Given the description of an element on the screen output the (x, y) to click on. 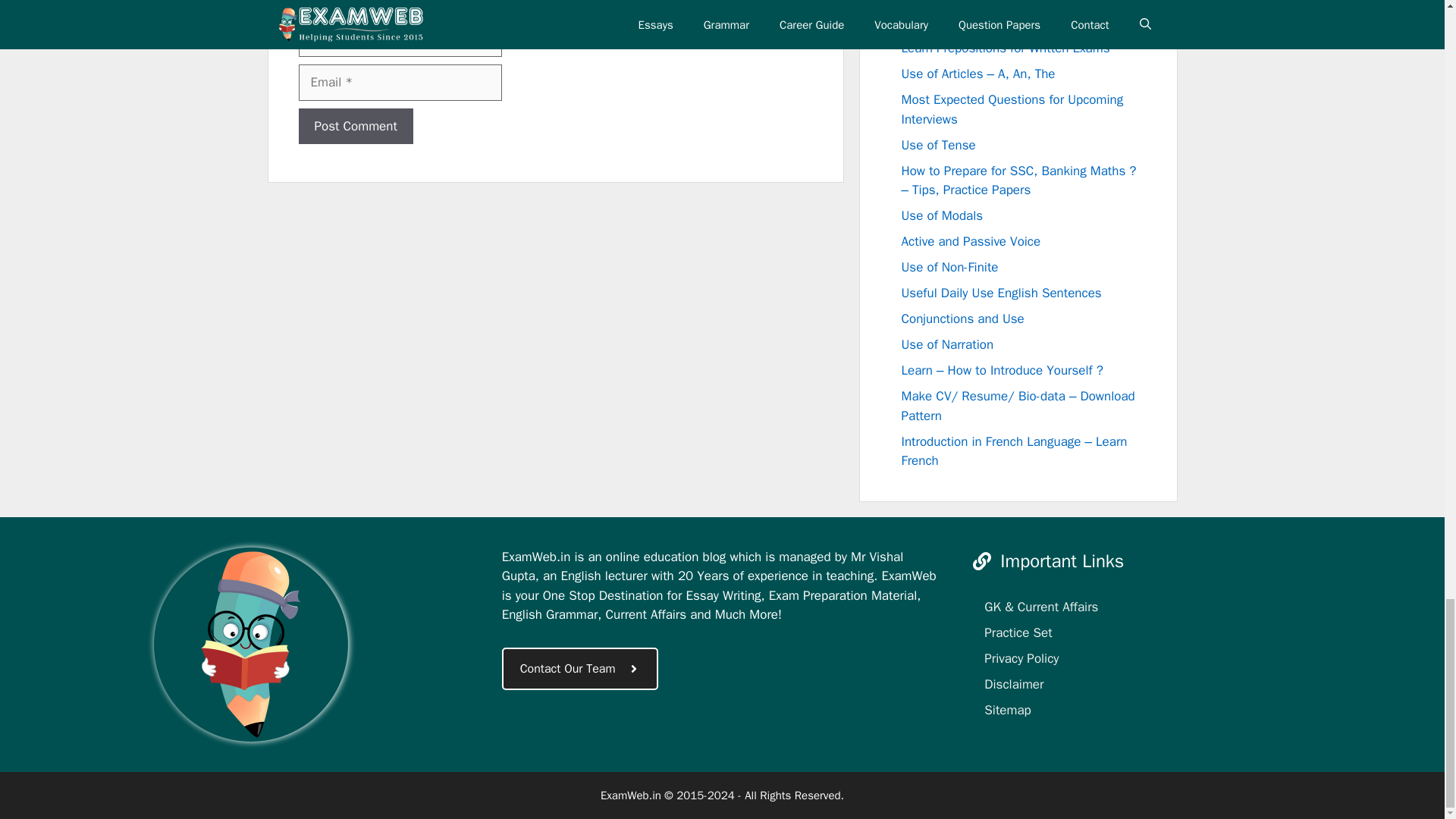
examweb.in (250, 644)
Post Comment (355, 126)
Post Comment (355, 126)
